Given the description of an element on the screen output the (x, y) to click on. 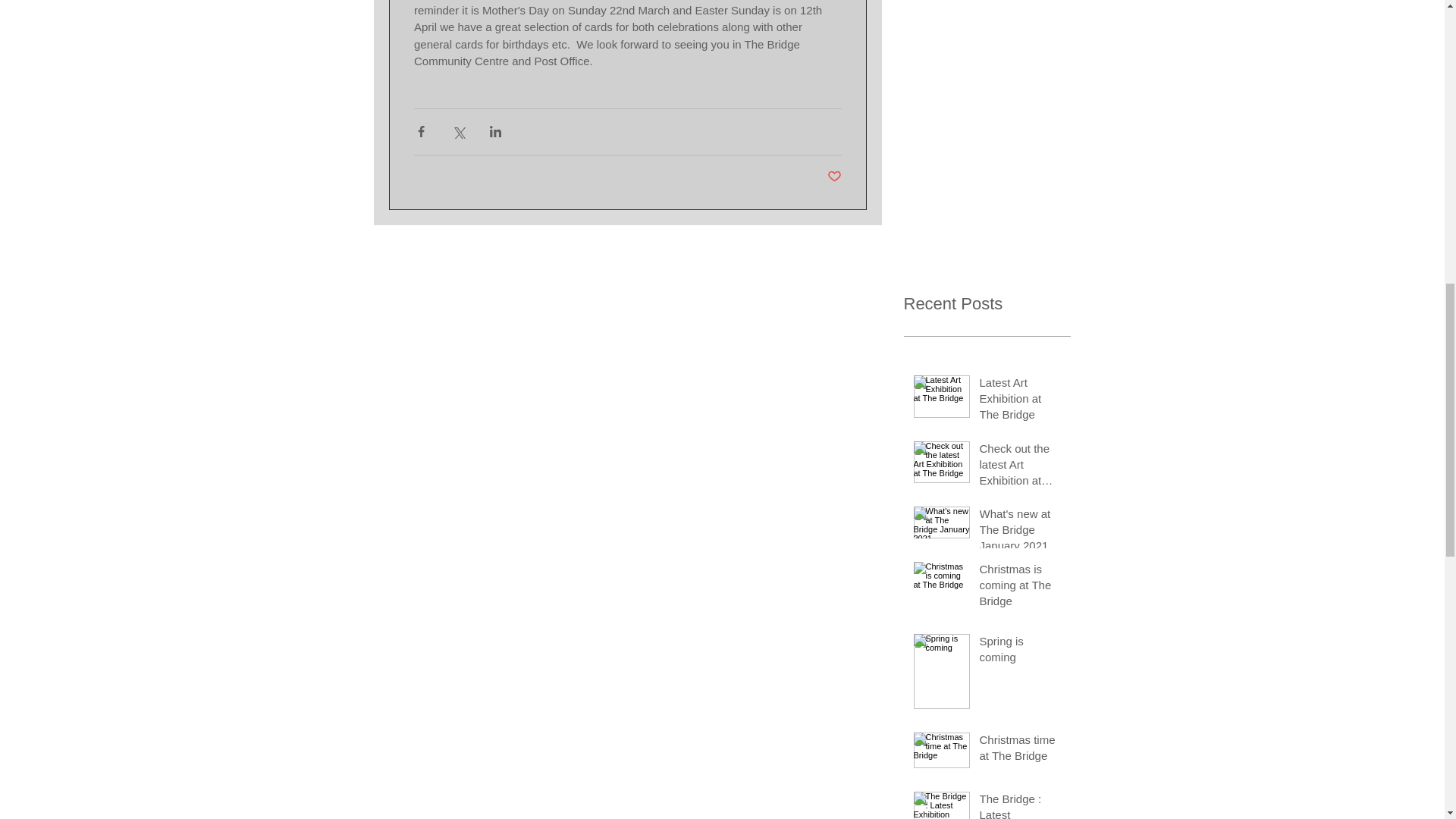
Check out the latest Art Exhibition at The Bridge (1020, 467)
Christmas time at The Bridge (1020, 750)
Spring is coming (1020, 651)
Christmas is coming at The Bridge (1020, 588)
Post not marked as liked (834, 176)
What's new at The Bridge January 2021 (1020, 532)
Latest Art Exhibition at The Bridge (1020, 401)
The Bridge : Latest Exhibition (1020, 805)
